Given the description of an element on the screen output the (x, y) to click on. 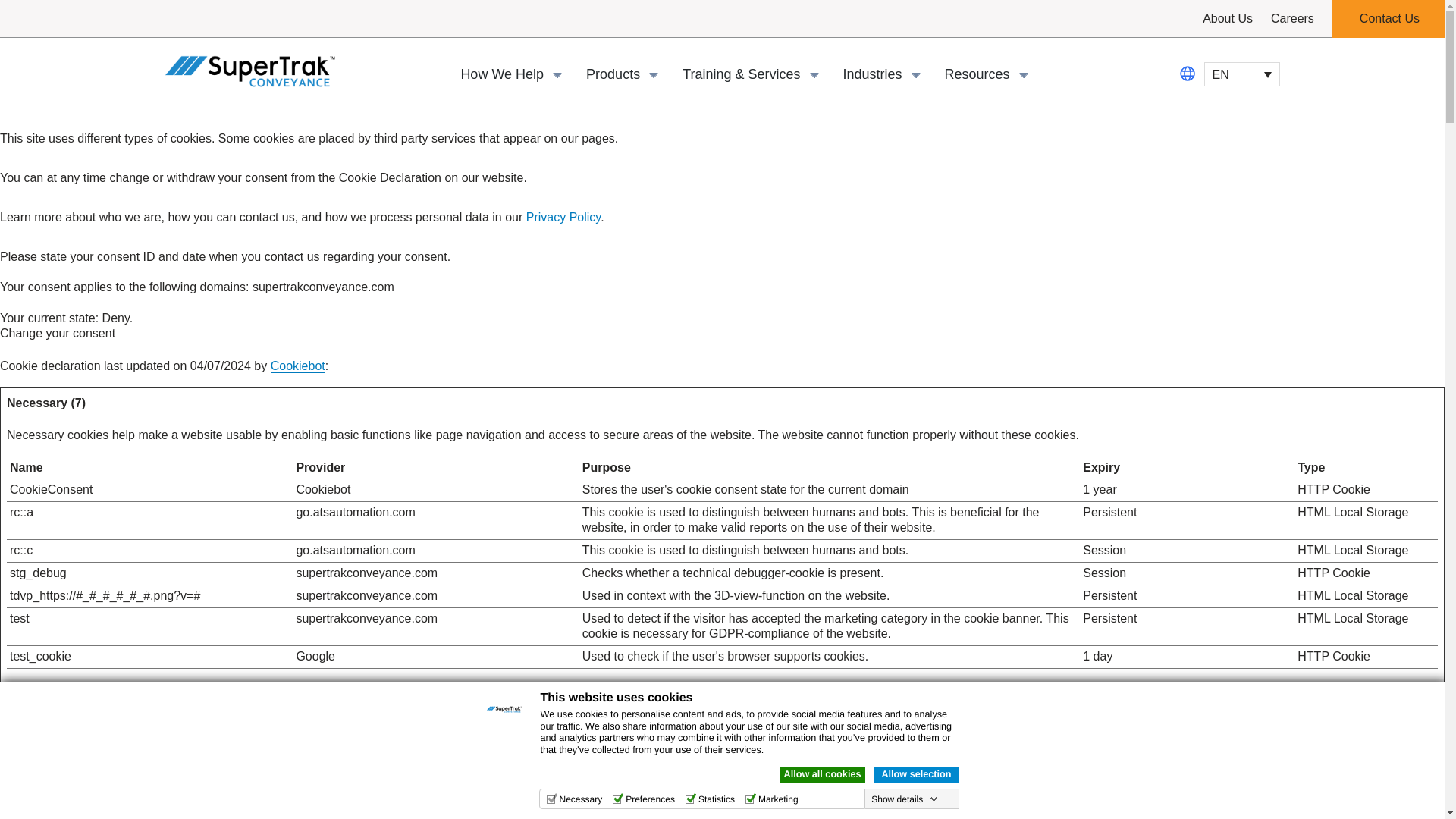
Privacy Policy (562, 217)
Change your consent (57, 332)
Google's privacy policy (314, 656)
Cookiebot (297, 366)
Privacy Policy (562, 217)
Cookiebot (297, 366)
Cookiebot (322, 489)
Cookiebot's privacy policy (322, 489)
Google (314, 656)
